Given the description of an element on the screen output the (x, y) to click on. 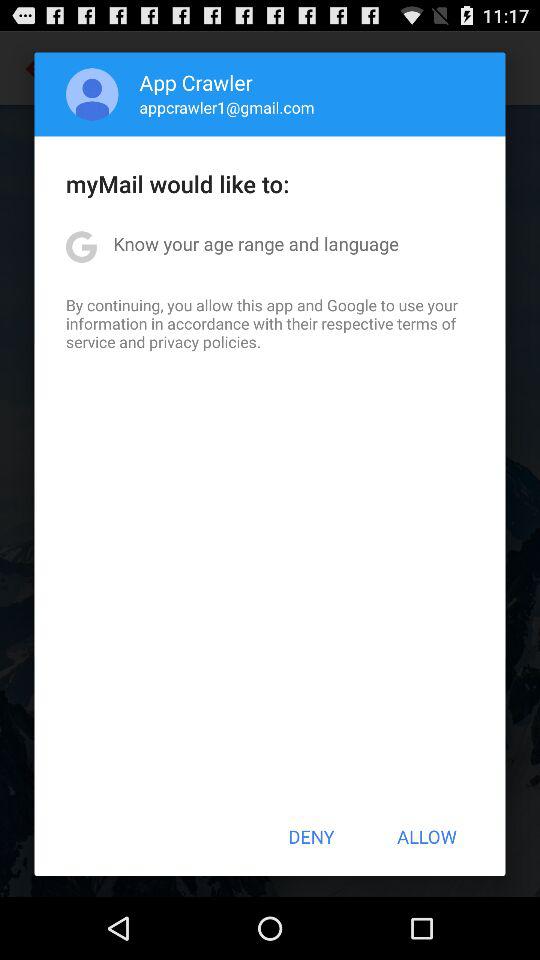
tap icon to the left of the allow icon (311, 836)
